Given the description of an element on the screen output the (x, y) to click on. 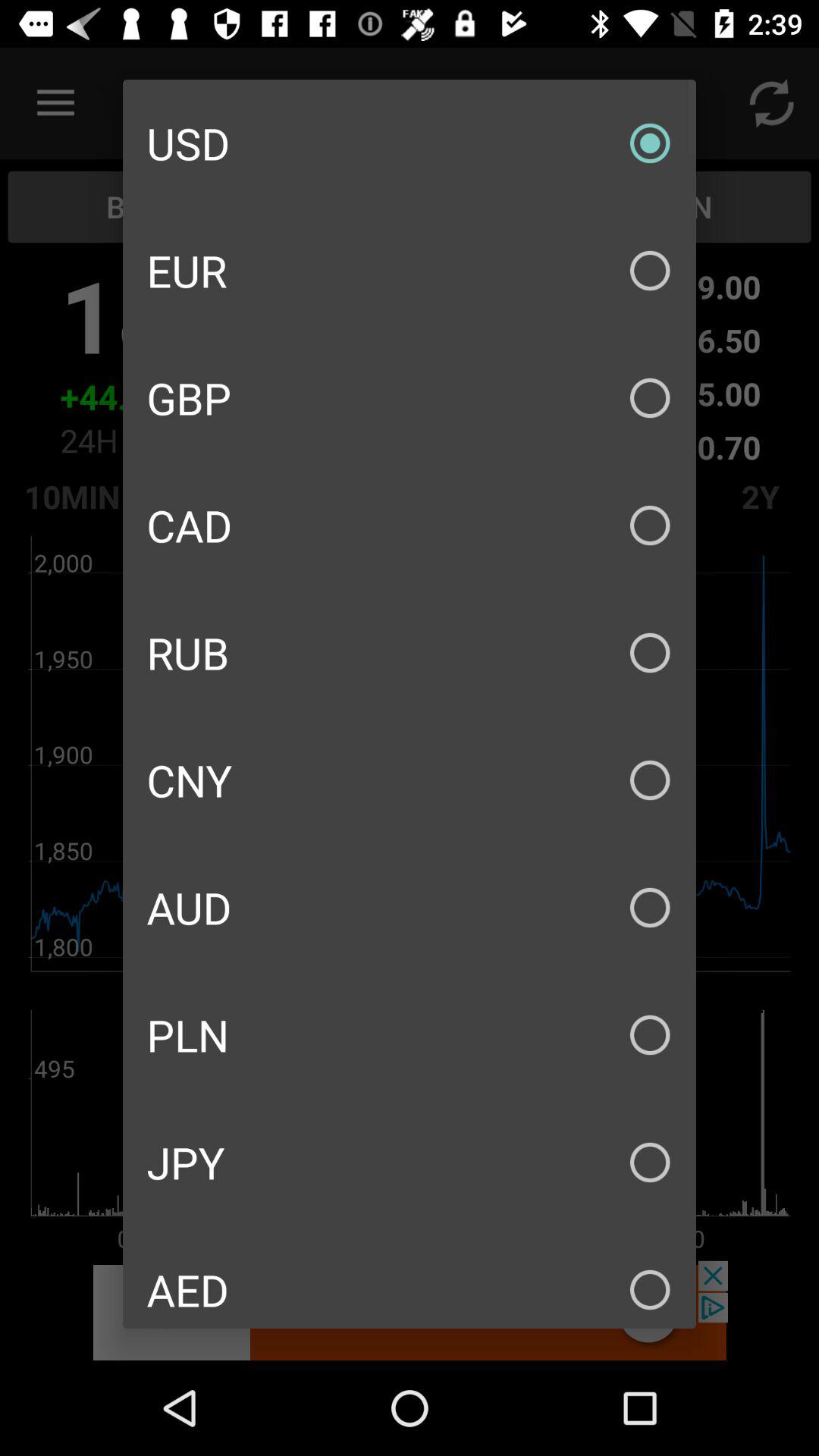
select gbp icon (409, 397)
